Given the description of an element on the screen output the (x, y) to click on. 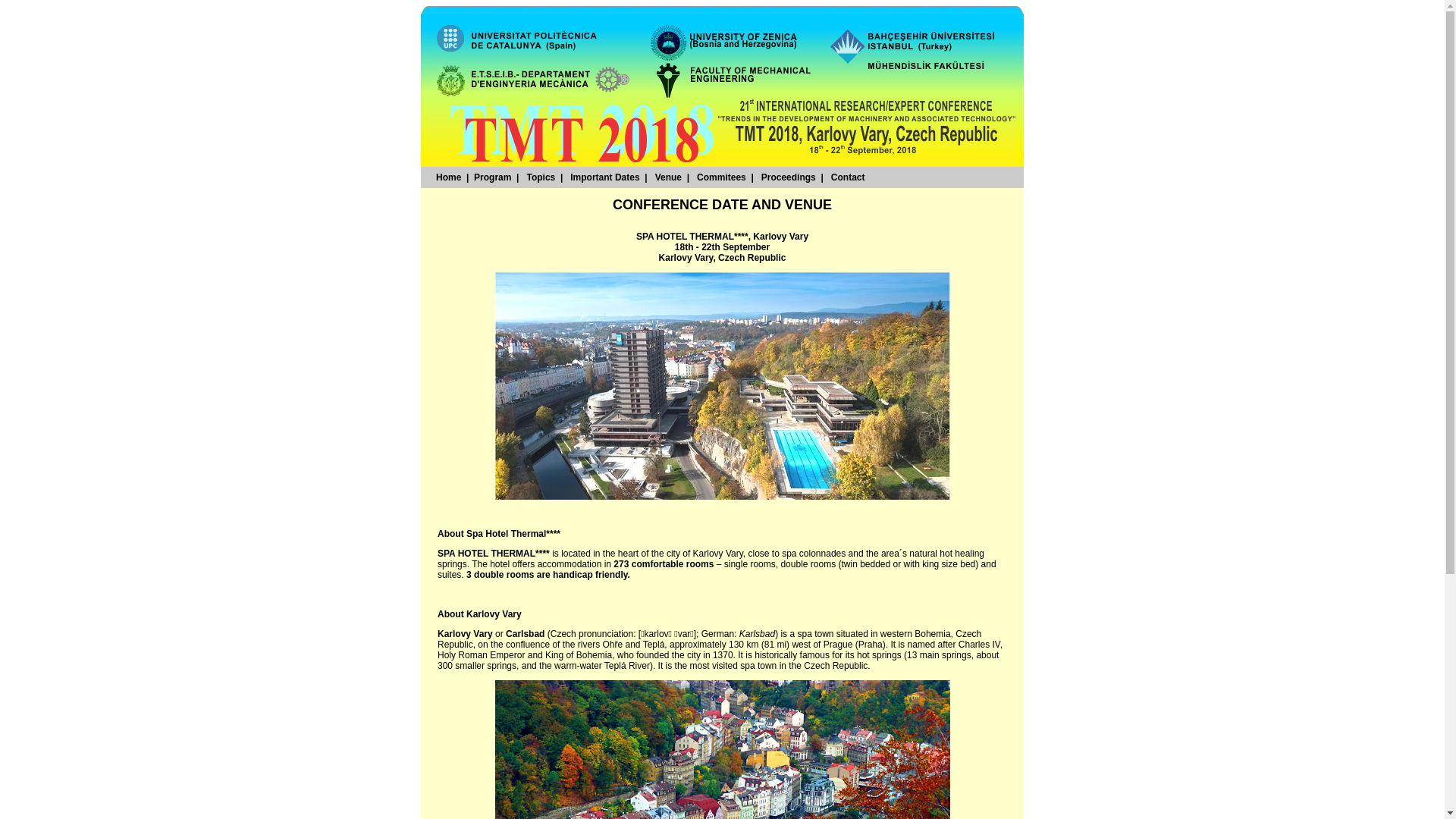
Charles IV Element type: text (979, 644)
Czech Republic Element type: text (709, 638)
spa town Element type: text (815, 633)
Important Dates Element type: text (604, 177)
King of Bohemia Element type: text (578, 654)
Venue Element type: text (668, 177)
Program Element type: text (492, 177)
Commitees Element type: text (721, 177)
Bohemia Element type: text (932, 633)
Proceedings Element type: text (788, 177)
Contact Element type: text (848, 177)
hot springs Element type: text (878, 654)
Home Element type: text (448, 177)
Topics Element type: text (540, 177)
German Element type: text (717, 633)
Prague Element type: text (838, 644)
Holy Roman Emperor Element type: text (480, 654)
